Given the description of an element on the screen output the (x, y) to click on. 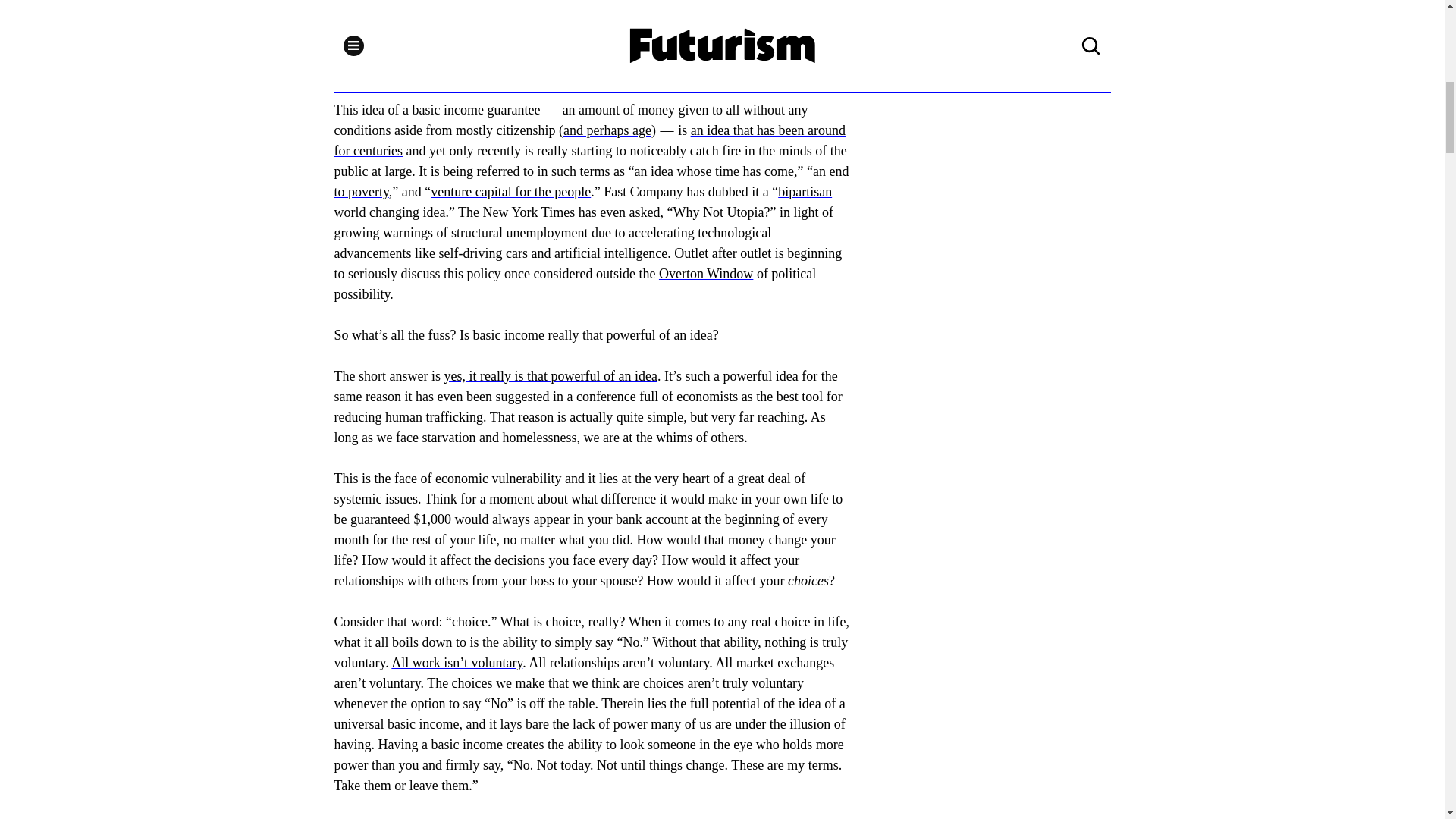
artificial intelligence (610, 253)
self-driving cars (482, 253)
an end to poverty (590, 181)
Outlet (690, 253)
yes, it really is that powerful of an idea (550, 376)
an idea that has been around for centuries (589, 140)
an idea whose time has come (713, 171)
outlet (755, 253)
Why Not Utopia? (721, 212)
Overton Window (705, 273)
